Given the description of an element on the screen output the (x, y) to click on. 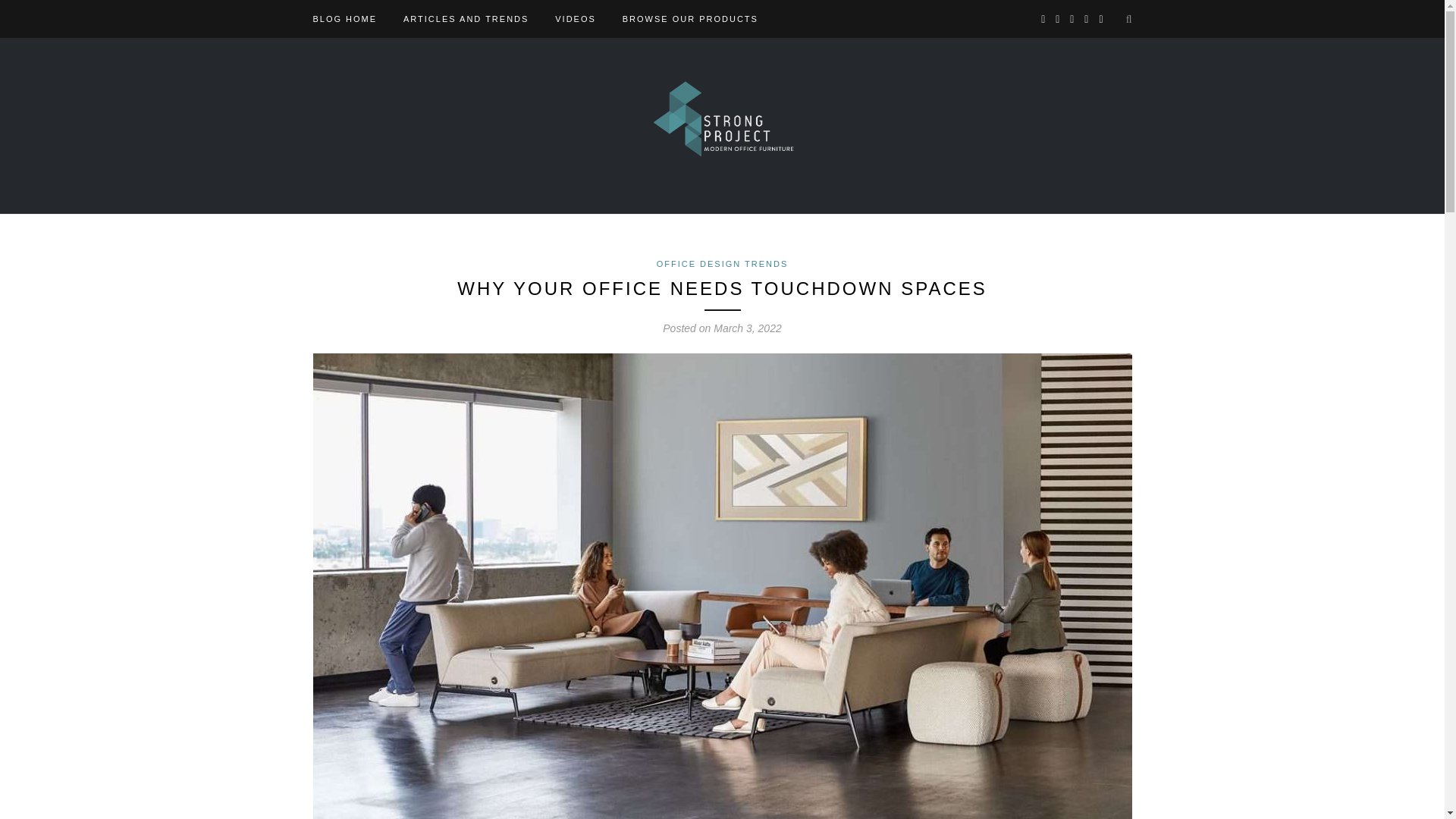
VIDEOS (574, 18)
BROWSE OUR PRODUCTS (690, 18)
ARTICLES AND TRENDS (465, 18)
OFFICE DESIGN TRENDS (722, 263)
BLOG HOME (345, 18)
